Given the description of an element on the screen output the (x, y) to click on. 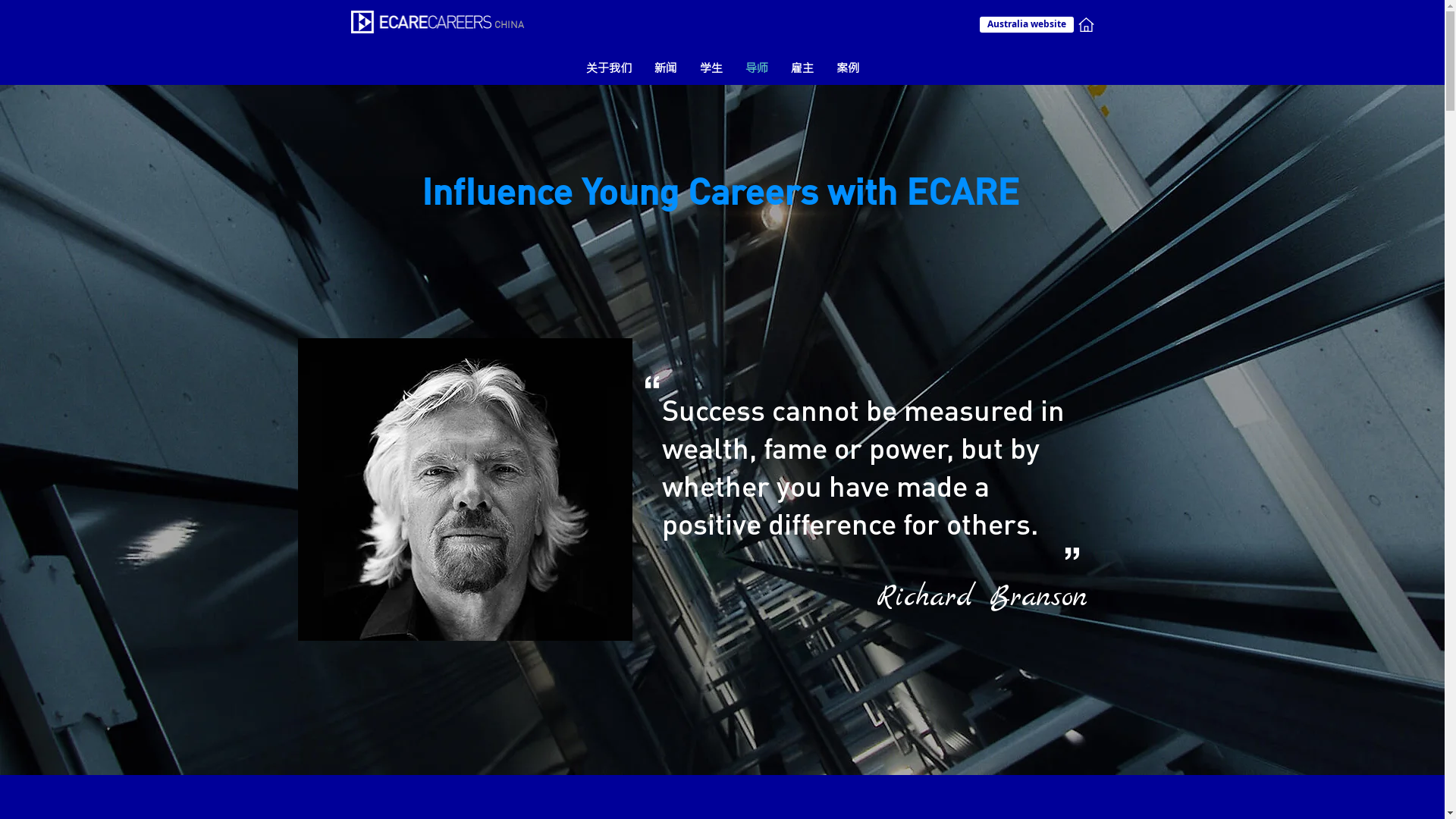
Australia website Element type: text (1026, 24)
